Given the description of an element on the screen output the (x, y) to click on. 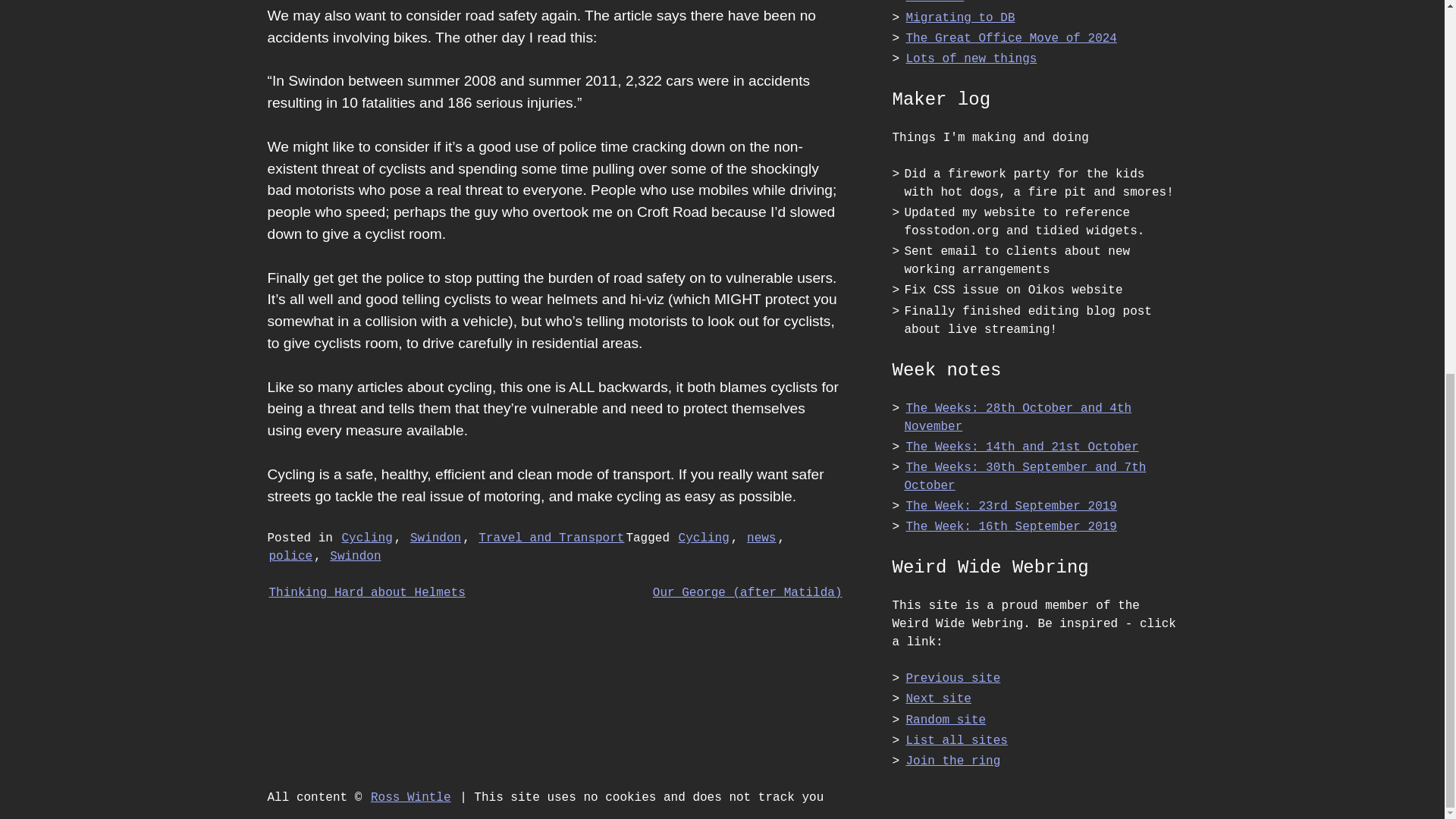
Travel and Transport (551, 538)
The Great Office Move of 2024 (1011, 38)
The Week: 16th September 2019 (1011, 526)
Lots of new things (971, 58)
Swindon (436, 538)
The Weeks: 14th and 21st October (1022, 446)
The Weeks: 28th October and 4th November (1017, 417)
The Weeks: 30th September and 7th October (1024, 476)
The Week: 23rd September 2019 (1011, 506)
Thinking Hard about Helmets (365, 592)
Swindon (355, 556)
Cycling (703, 538)
Previous site (952, 678)
news (761, 538)
Friction (934, 2)
